Given the description of an element on the screen output the (x, y) to click on. 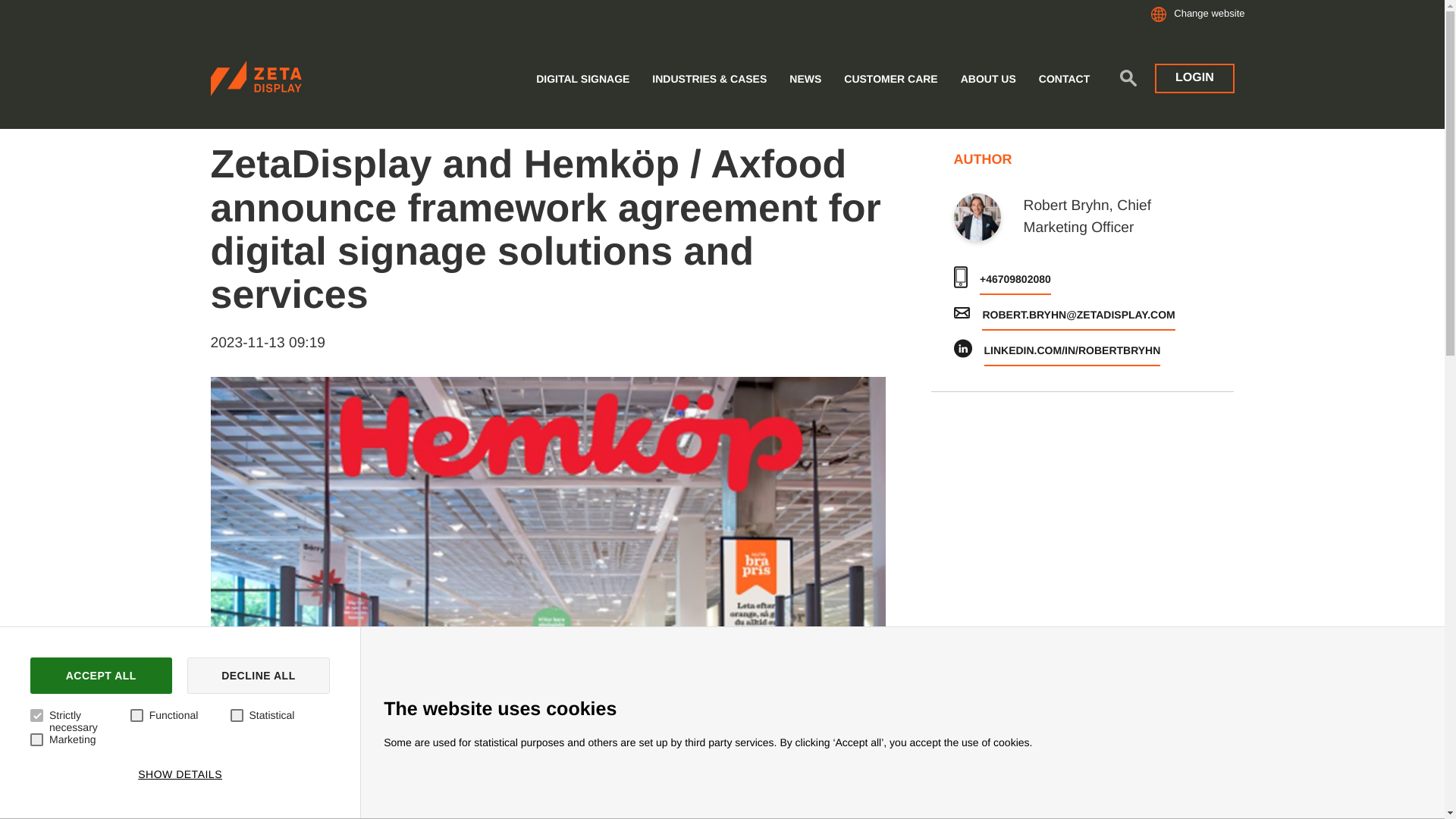
DECLINE ALL (258, 675)
ACCEPT ALL (100, 675)
SHOW DETAILS (179, 773)
